Given the description of an element on the screen output the (x, y) to click on. 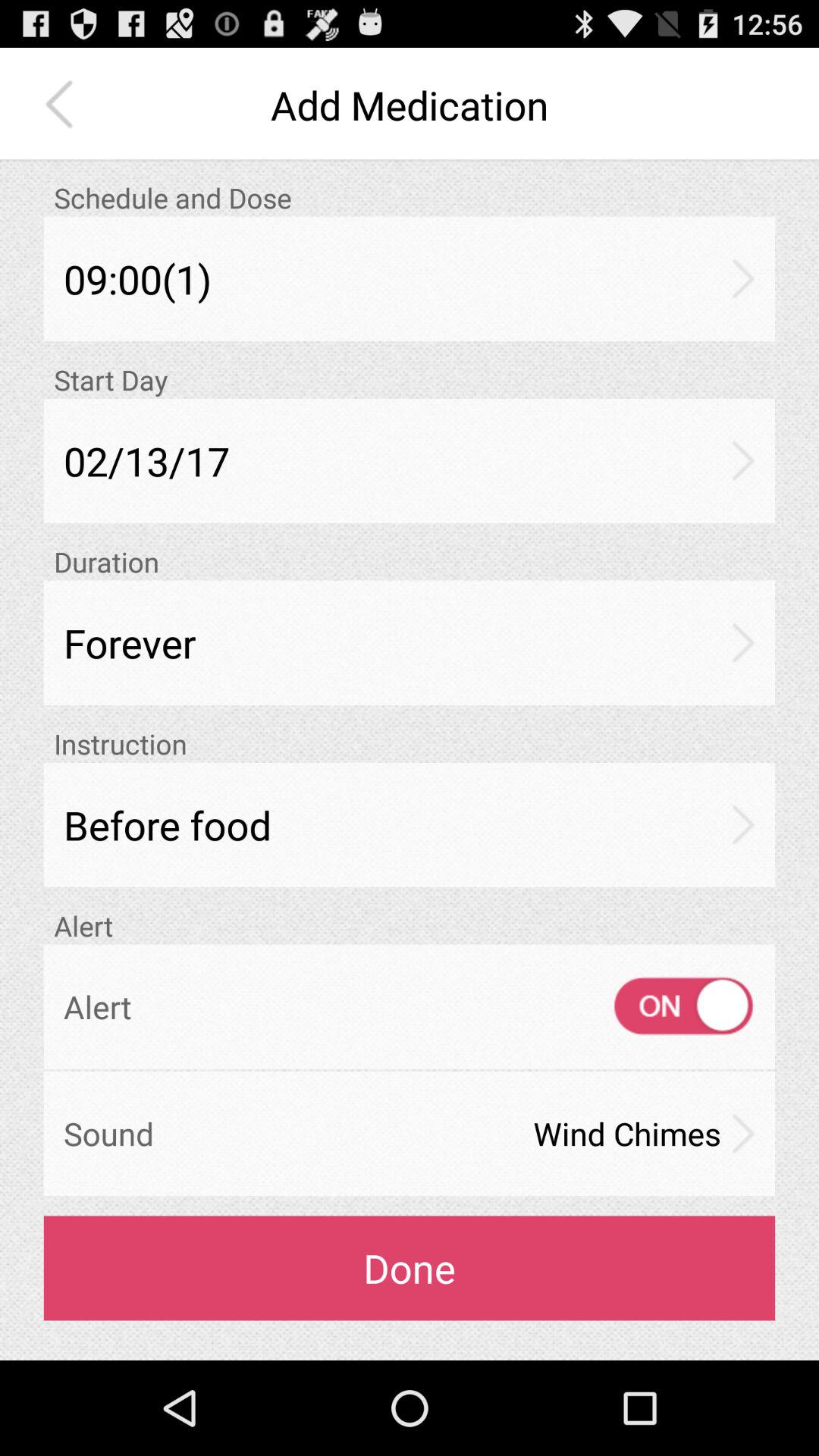
launch the icon below the sound icon (409, 1267)
